Given the description of an element on the screen output the (x, y) to click on. 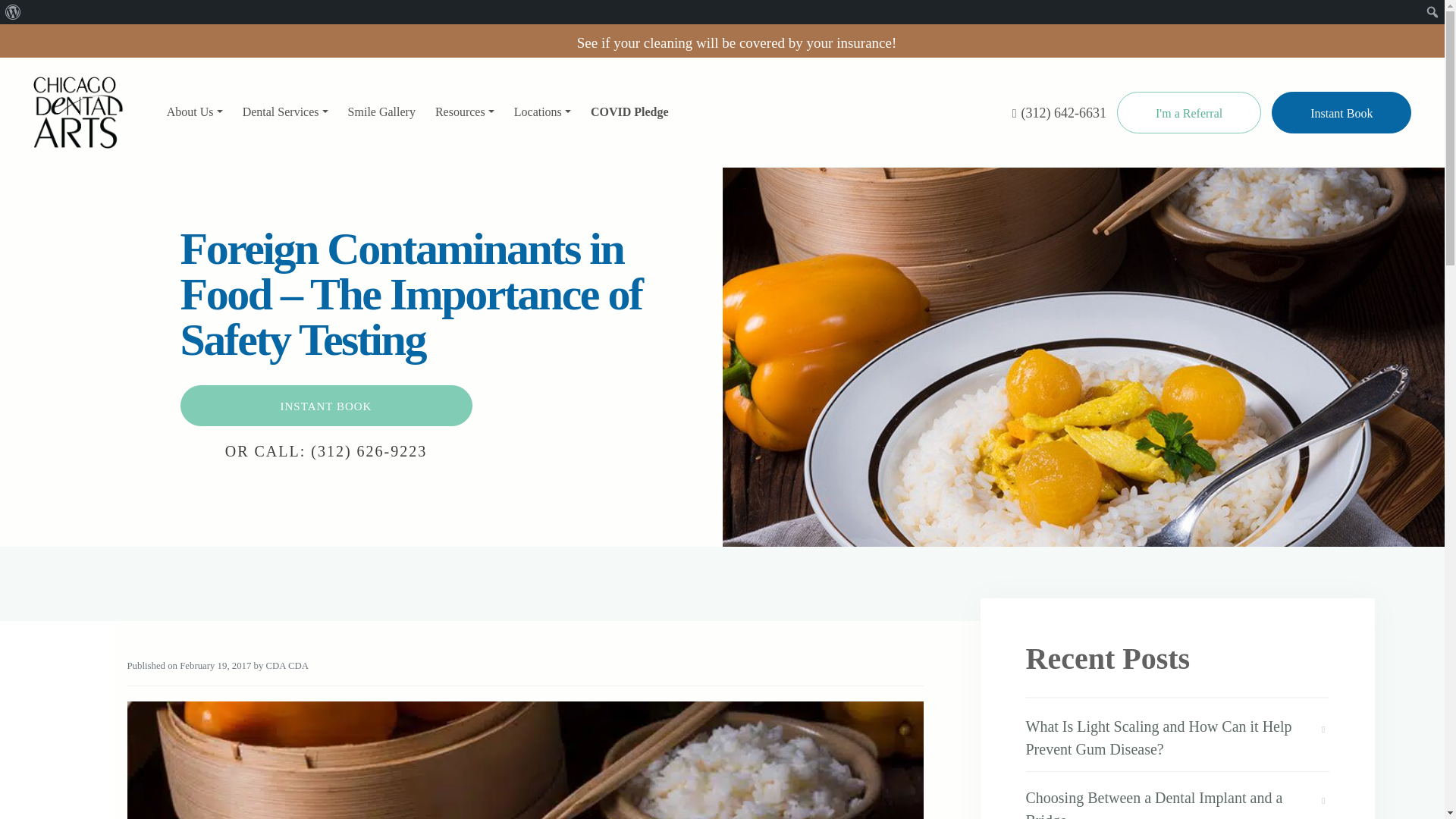
About Us (194, 112)
See if your cleaning will be covered by your insurance! (736, 42)
Dental Services (284, 112)
About Us (194, 112)
Dental Services (284, 112)
